Given the description of an element on the screen output the (x, y) to click on. 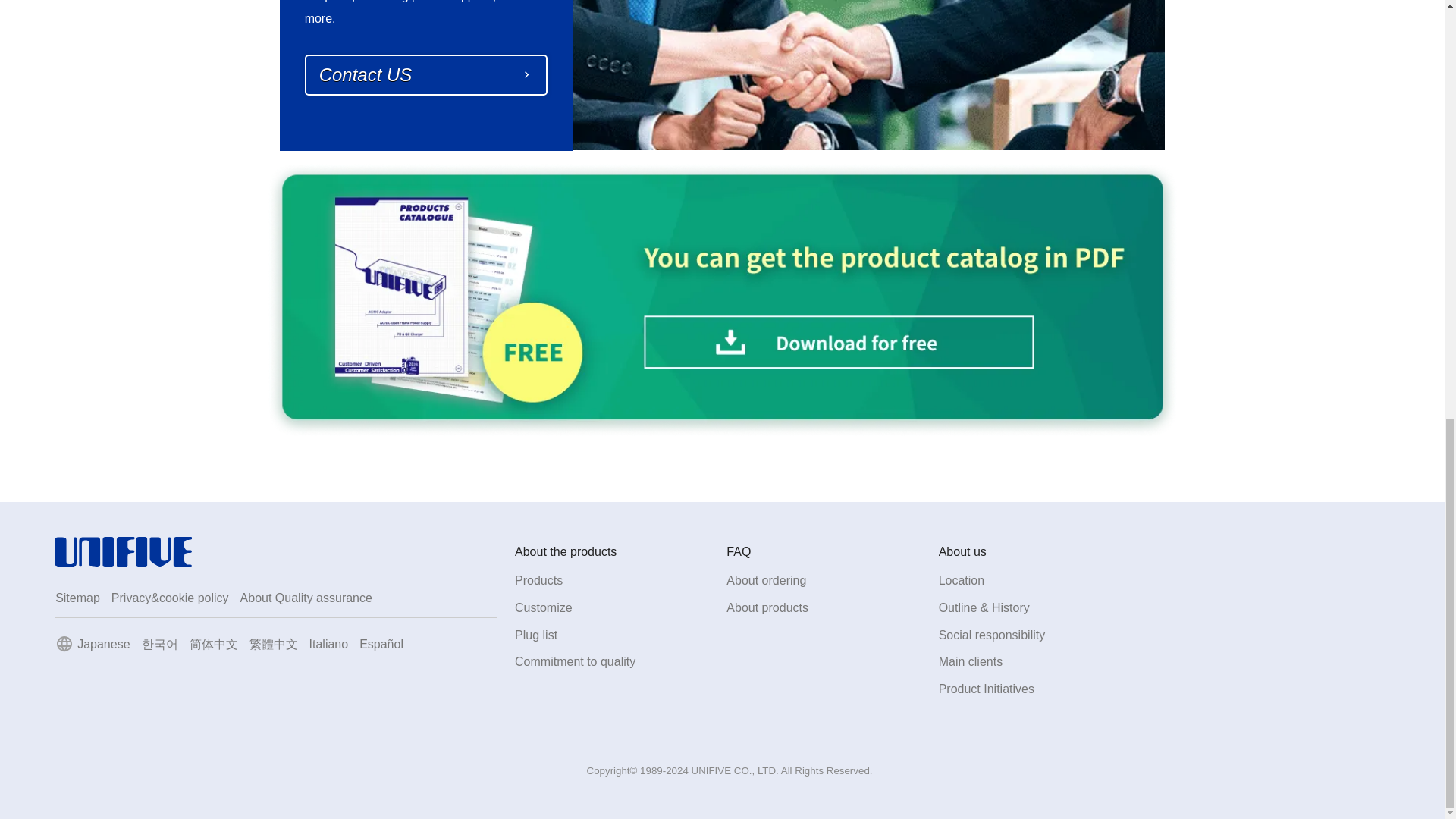
Italiano (328, 644)
Sitemap (77, 597)
Plug list (536, 634)
About Quality assurance (306, 597)
Contact US (425, 74)
Products (538, 580)
Customize (543, 607)
Japanese (103, 644)
